Given the description of an element on the screen output the (x, y) to click on. 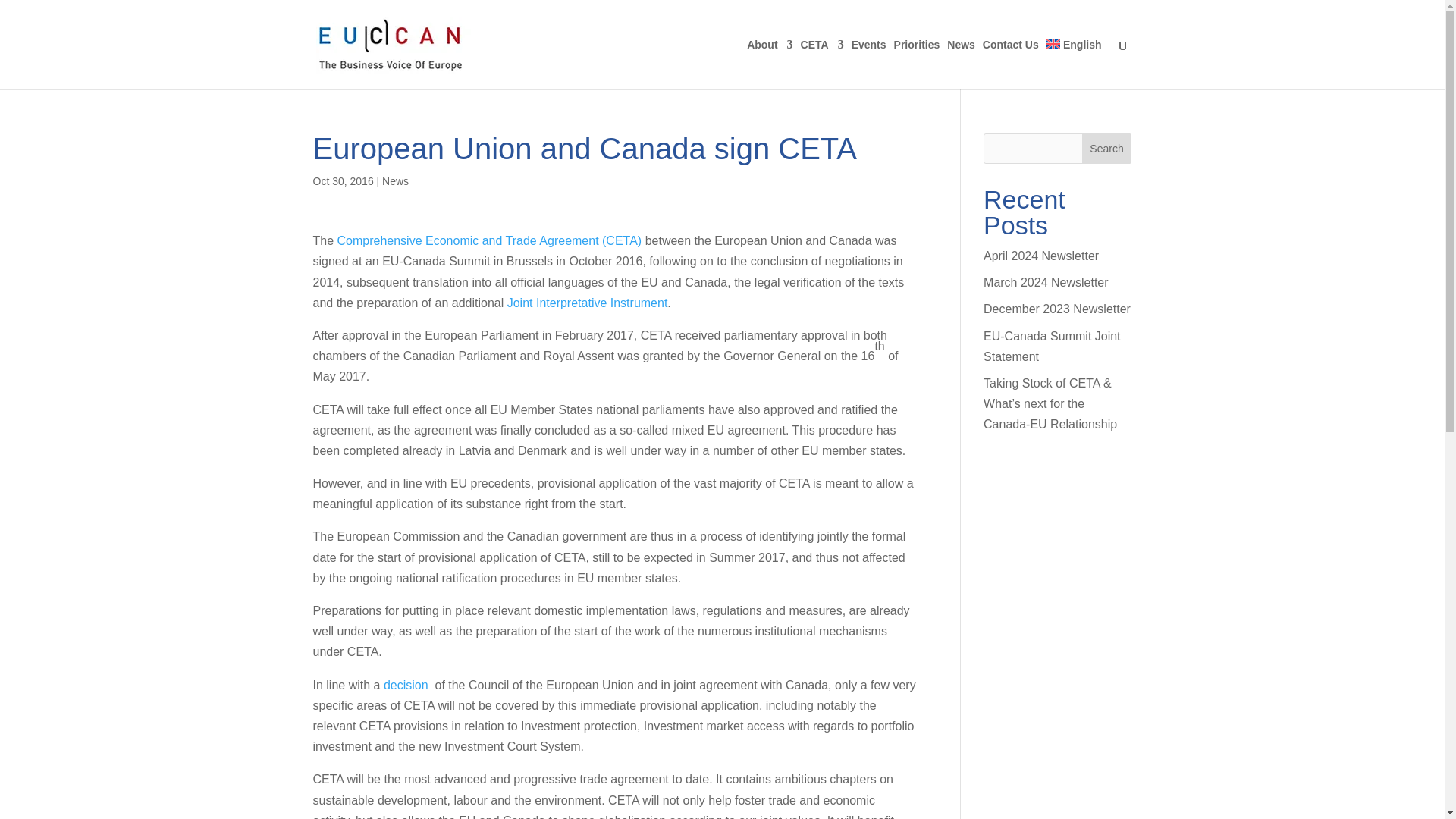
English (1074, 64)
English (1074, 64)
Priorities (916, 64)
Contact Us (1010, 64)
December 2023 Newsletter (1057, 308)
News (395, 181)
About (769, 64)
EU-Canada Summit Joint Statement (1052, 346)
April 2024 Newsletter (1041, 255)
Joint Interpretative Instrument (587, 302)
decision (406, 684)
March 2024 Newsletter (1046, 282)
Search (1106, 148)
